Given the description of an element on the screen output the (x, y) to click on. 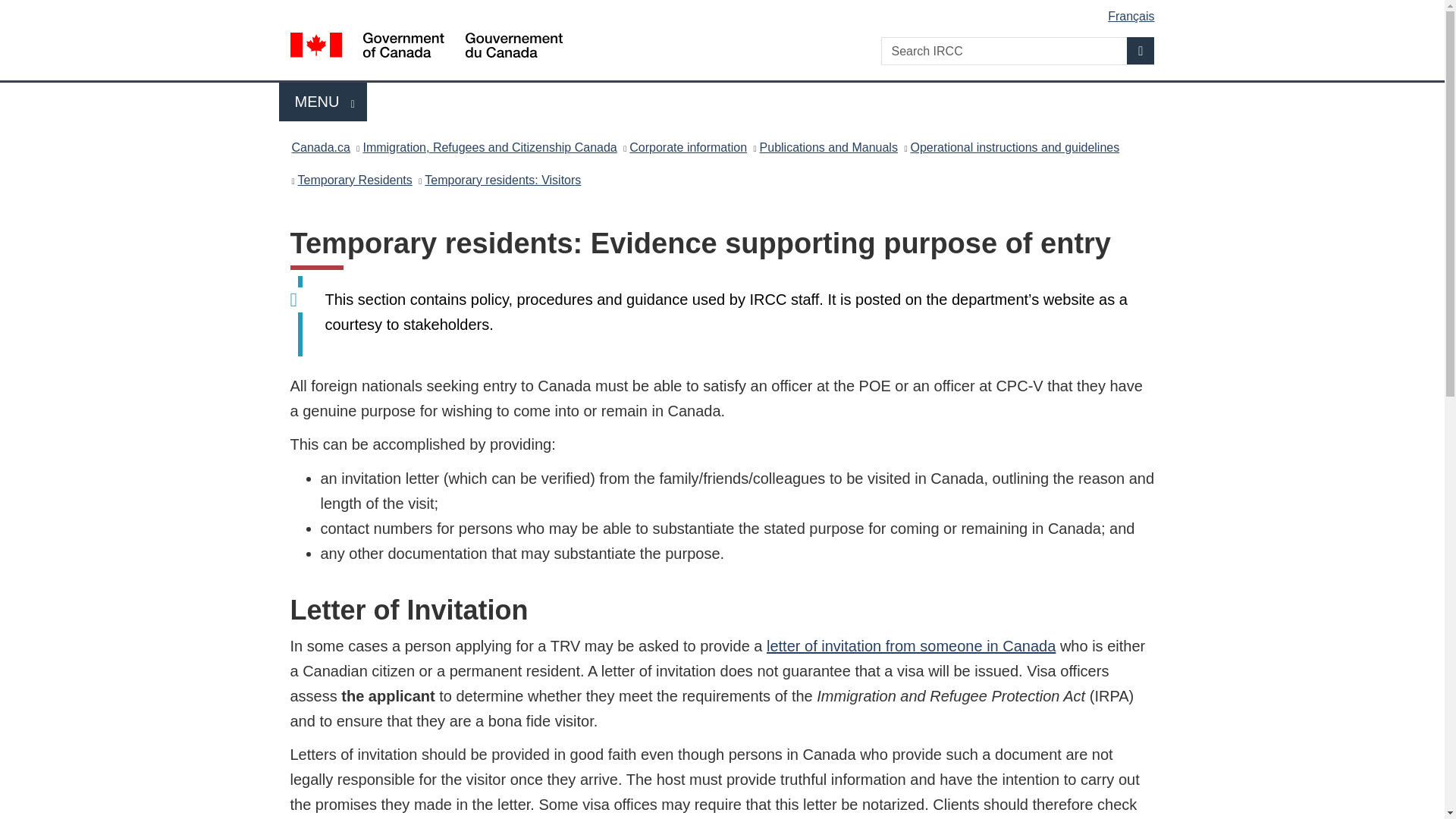
Temporary residents: Visitors (502, 179)
Corporate information (687, 147)
Immigration, Refugees and Citizenship Canada (488, 147)
Operational instructions and guidelines (1014, 147)
Publications and Manuals (829, 147)
Skip to main content (725, 11)
Search (1140, 50)
Temporary Residents (322, 101)
Canada.ca (355, 179)
